Given the description of an element on the screen output the (x, y) to click on. 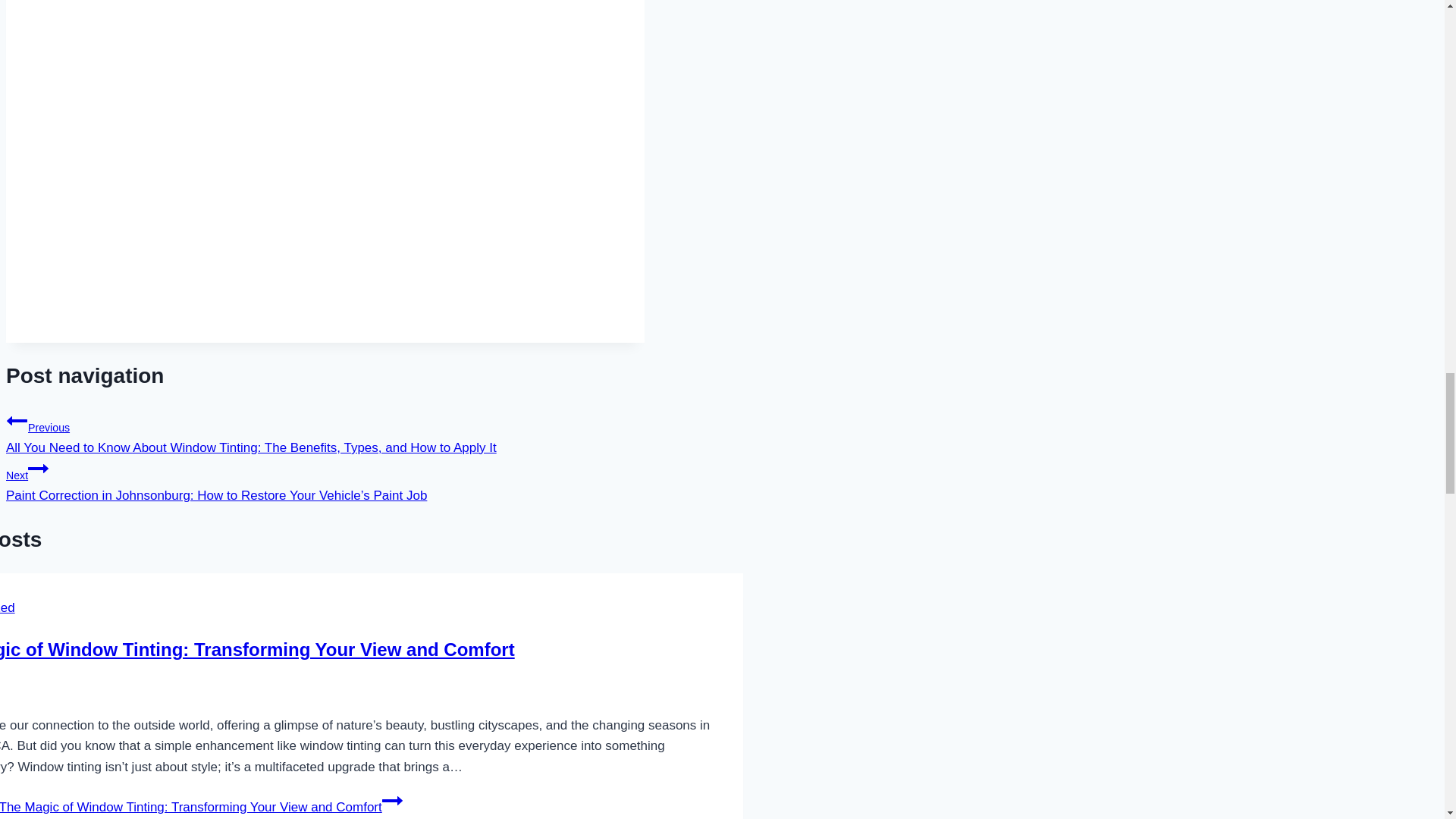
Continue (37, 468)
Previous (16, 420)
Uncategorized (7, 607)
Continue (392, 800)
